Given the description of an element on the screen output the (x, y) to click on. 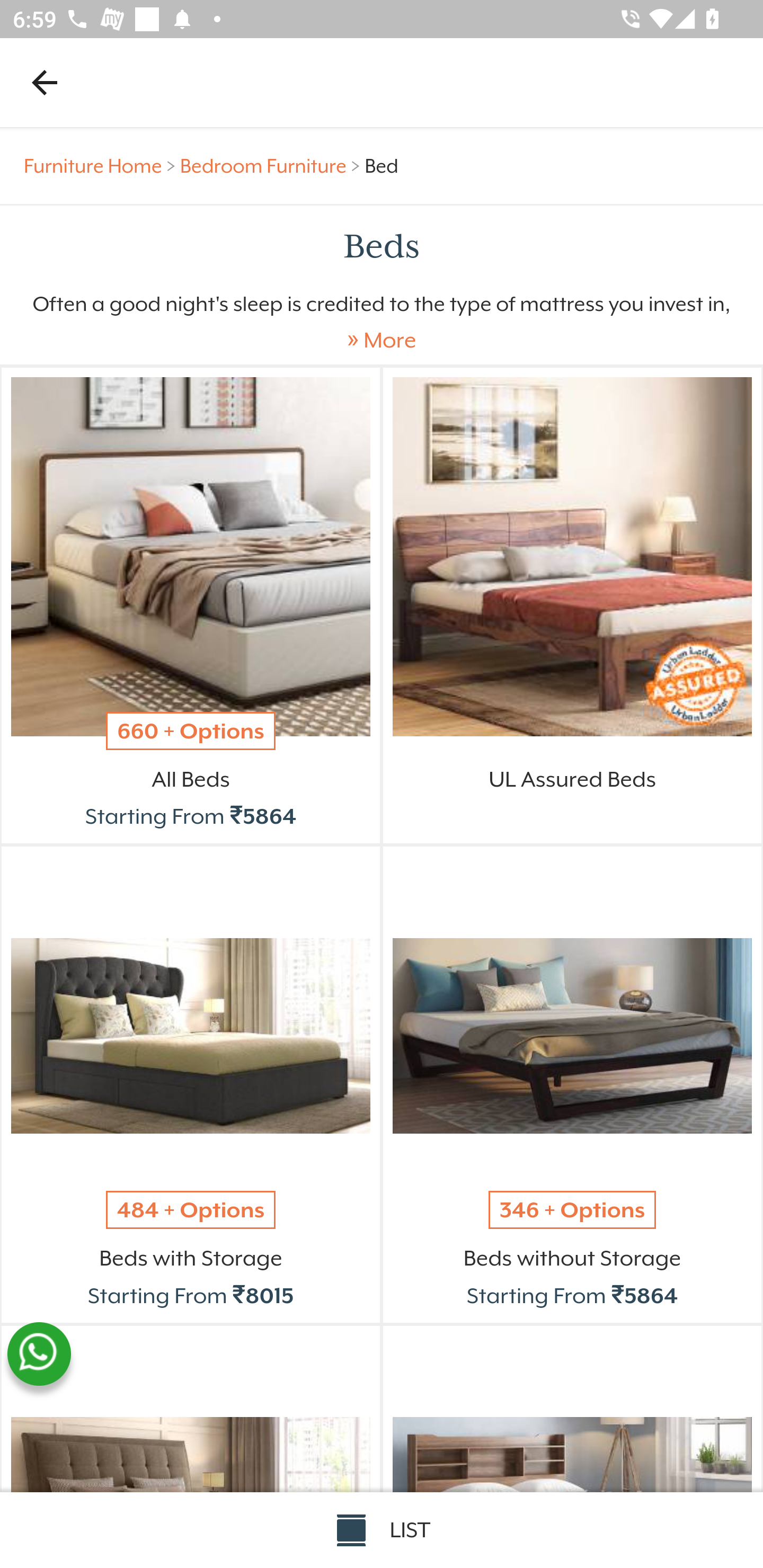
Navigate up (44, 82)
Furniture Home >  Furniture Home  >  (102, 165)
Bedroom Furniture >  Bedroom Furniture  >  (272, 165)
» More (381, 339)
UL Assured Beds Design (571, 556)
UL Assured Beds   UL Assured Beds   (571, 797)
whatsapp (38, 1353)
LIST (381, 1530)
